Given the description of an element on the screen output the (x, y) to click on. 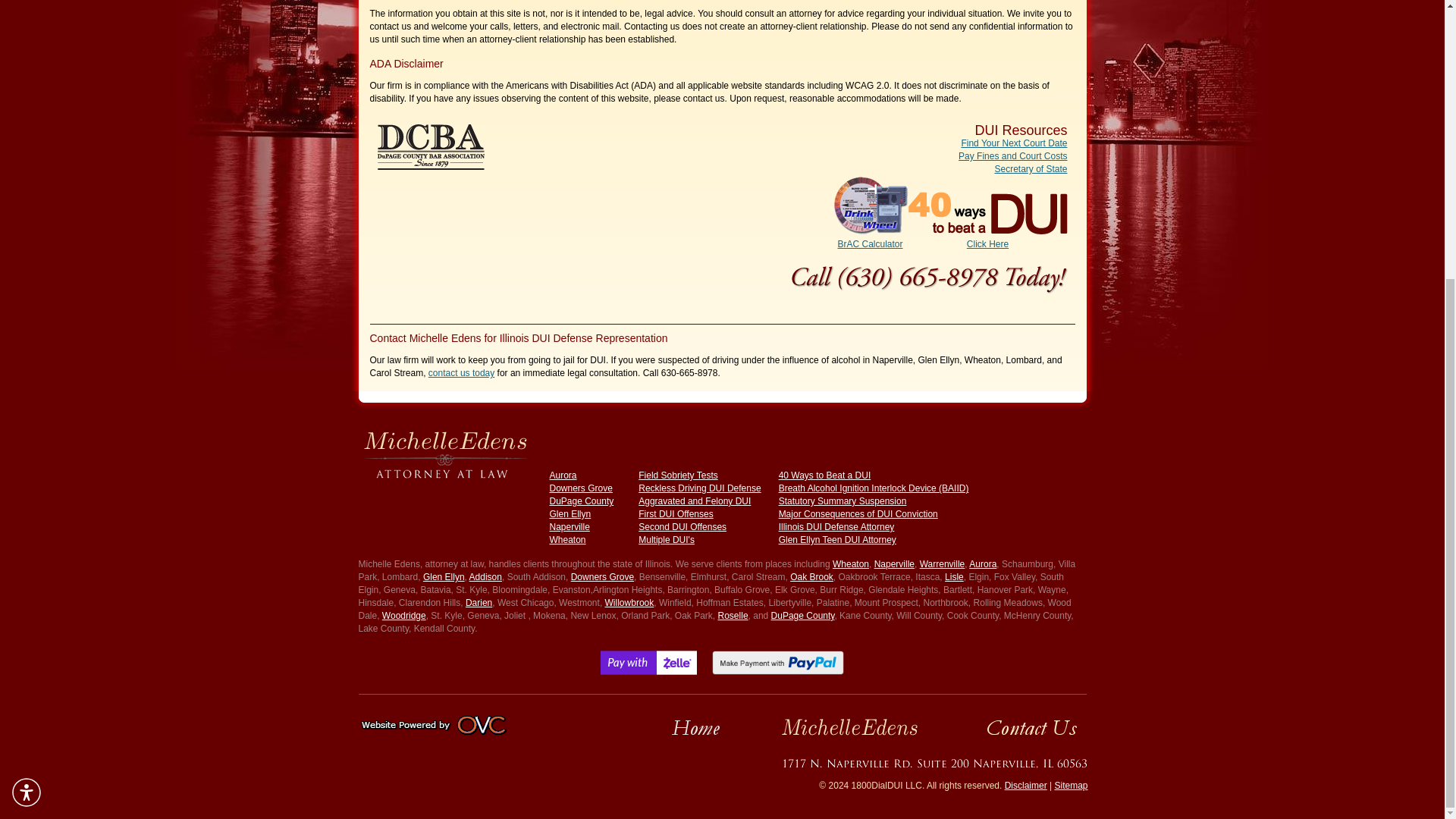
Reckless Driving DUI Defense (699, 488)
Glen Ellyn Teen DUI Attorney (837, 539)
Warrenville (942, 563)
Find Your Next Court Date (1013, 143)
Naperville (894, 563)
Addison (485, 576)
40 Ways to Beat a DUI (824, 475)
Aggravated and Felony DUI (695, 501)
Call Today! (929, 271)
Downers Grove (579, 488)
Major Consequences of DUI Conviction (857, 513)
Secretary of State (1030, 168)
Michelle Edens (444, 452)
Click Here (987, 237)
Wheaton (566, 539)
